Given the description of an element on the screen output the (x, y) to click on. 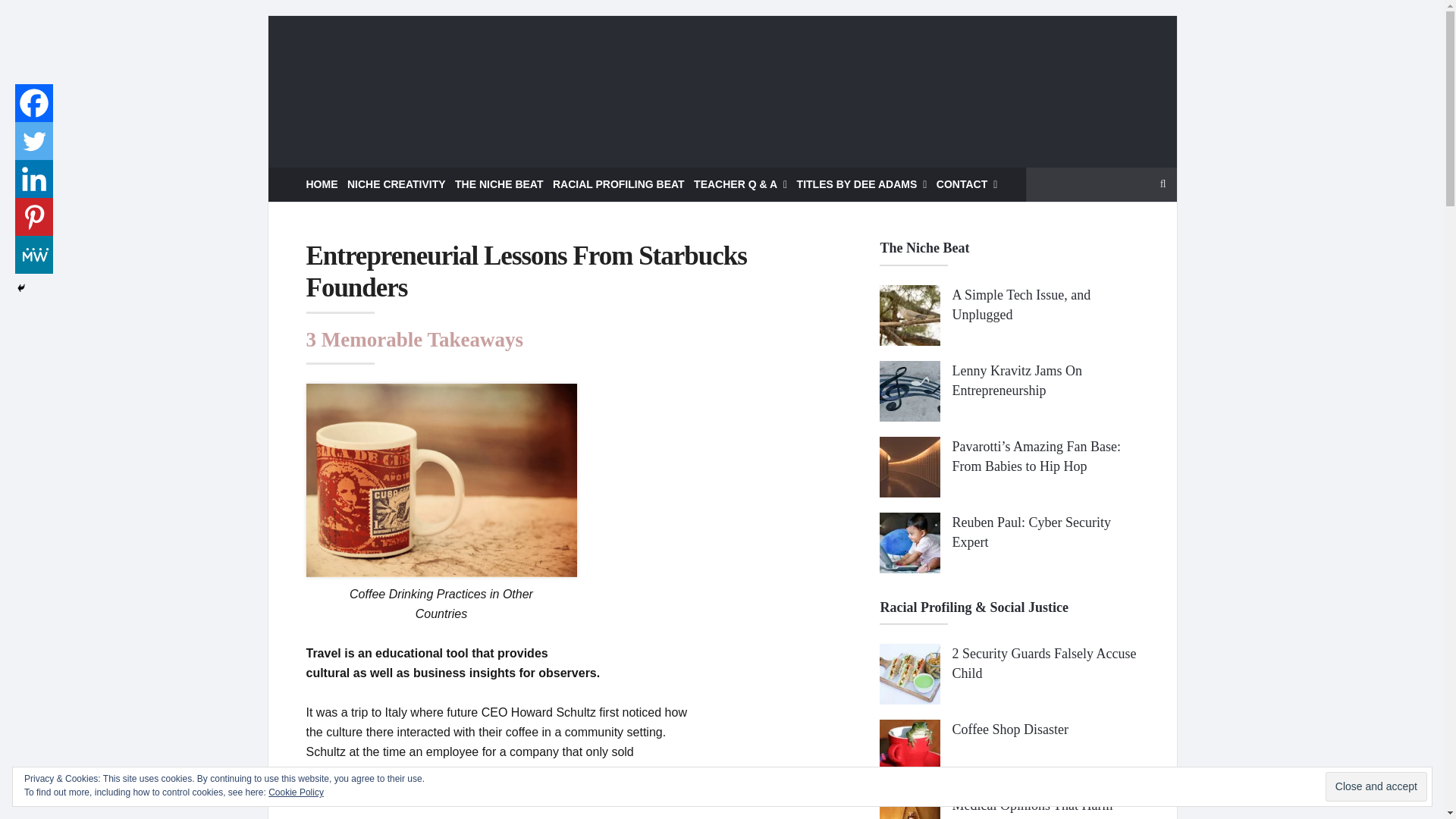
TITLES BY DEE ADAMS (861, 184)
Lenny Kravitz Jams On Entrepreneurship (1016, 380)
Medical Opinions That Harm (1032, 805)
Twitter (33, 140)
Linkedin (33, 178)
NICHE CREATIVITY (396, 184)
Pinterest (33, 216)
Hide (20, 287)
THE NICHE BEAT (498, 184)
